Given the description of an element on the screen output the (x, y) to click on. 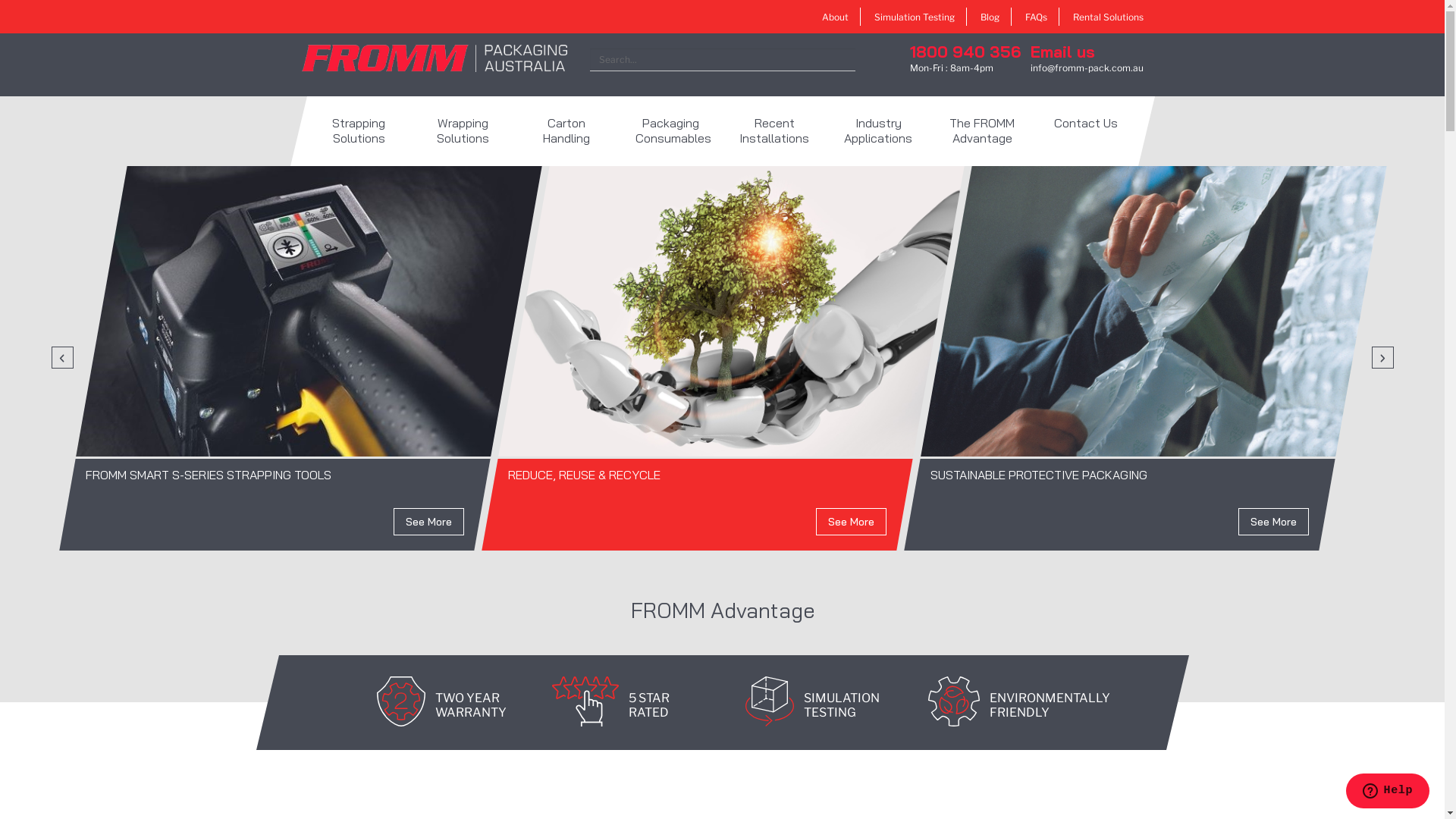
Simulation Testing Element type: text (913, 16)
FAQs Element type: text (1036, 16)
Contact Us Element type: text (1085, 131)
Industry Applications Element type: text (878, 131)
Rental Solutions Element type: text (1107, 16)
See More Element type: text (1273, 521)
Previous Element type: text (62, 357)
Next Element type: text (1382, 357)
Email us Element type: text (1061, 51)
Packaging Consumables Element type: text (670, 131)
The FROMM Advantage Element type: text (981, 131)
info@fromm-pack.com.au Element type: text (1085, 67)
Wrapping Solutions Element type: text (462, 131)
Blog Element type: text (988, 16)
Recent Installations Element type: text (773, 131)
See More Element type: text (850, 521)
About Element type: text (835, 16)
Carton Handling Element type: text (565, 131)
1800 940 356 Element type: text (965, 51)
Strapping Solutions Element type: text (357, 131)
Opens a widget where you can chat to one of our agents Element type: hover (1387, 792)
See More Element type: text (428, 521)
